Given the description of an element on the screen output the (x, y) to click on. 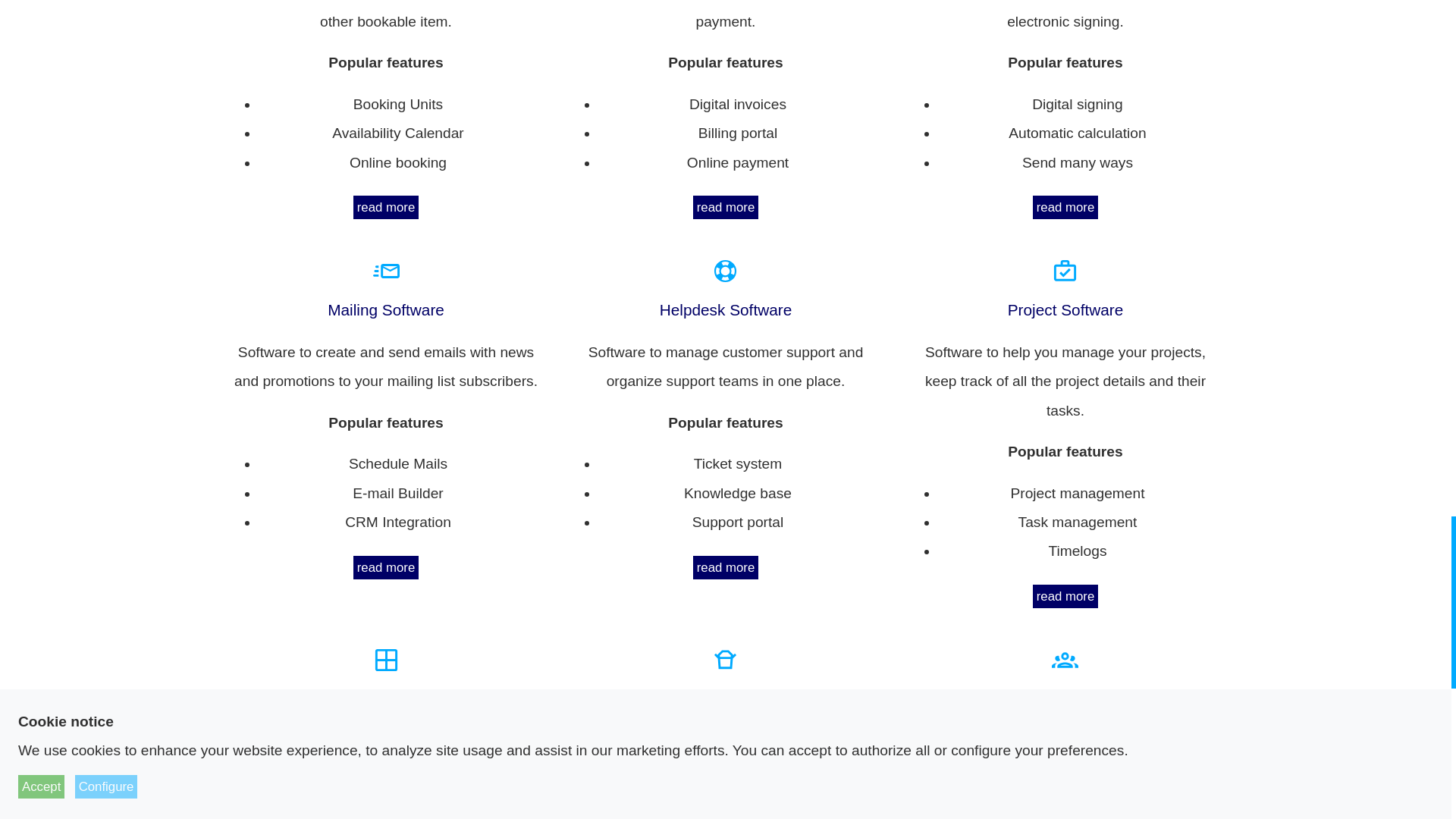
read more (725, 567)
read more (1064, 207)
read more (386, 207)
read more (386, 567)
read more (1064, 596)
read more (725, 207)
